Given the description of an element on the screen output the (x, y) to click on. 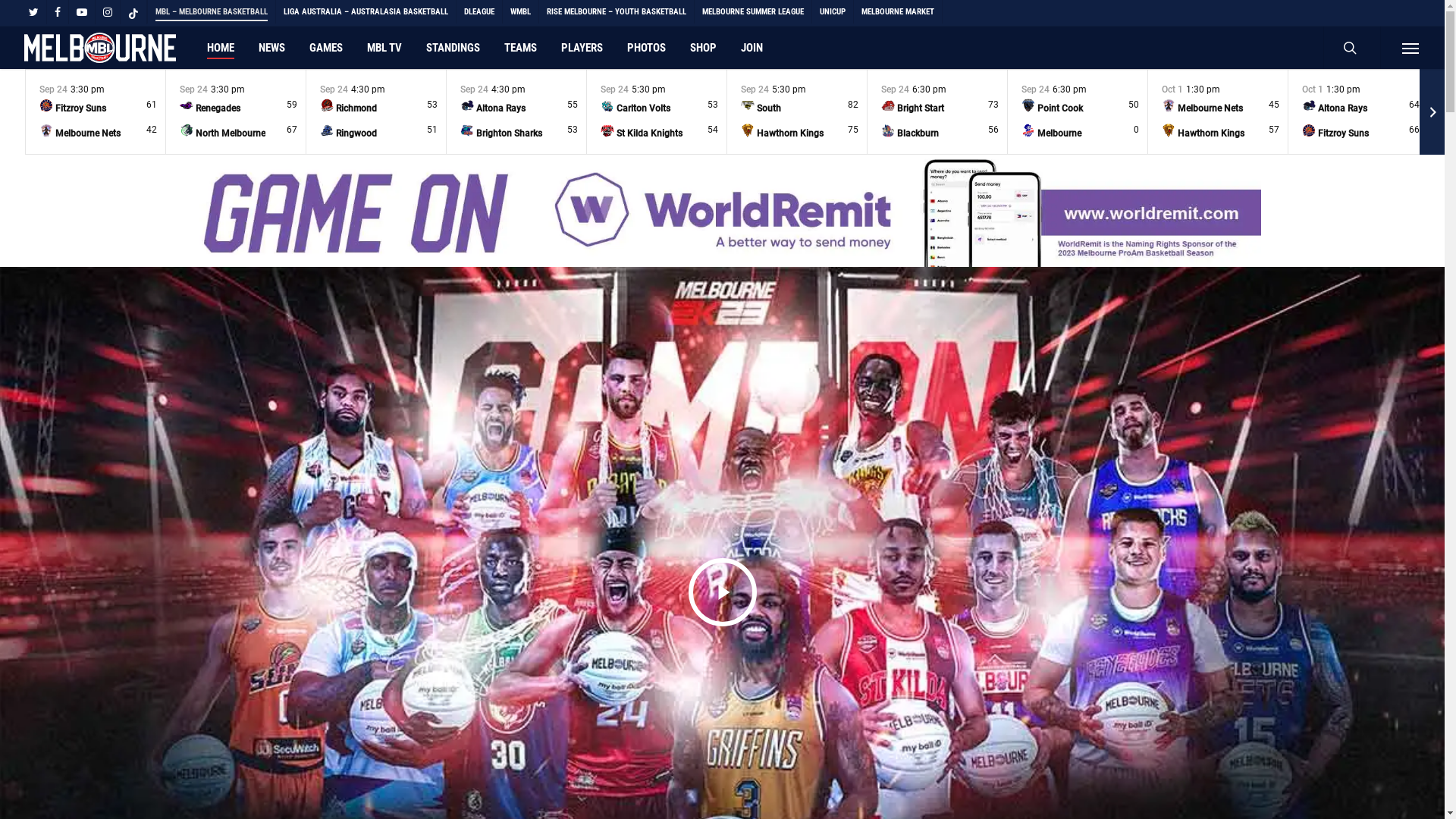
DLEAGUE Element type: text (478, 11)
JOIN Element type: text (751, 47)
Sep 24 3:30 pm
Renegades
59
North Melbourne Stags
67 Element type: text (235, 111)
Sep 24 5:30 pm
South Melbourne Pirates
82
Hawthorn Kings
75 Element type: text (796, 111)
MELBOURNE MARKET Element type: text (897, 11)
UNICUP Element type: text (832, 11)
NEWS Element type: text (271, 47)
MELBOURNE SUMMER LEAGUE Element type: text (752, 11)
Oct 1 1:30 pm
Melbourne Nets
45
Hawthorn Kings
57 Element type: text (1217, 111)
WMBL Element type: text (520, 11)
Sep 24 4:30 pm
Altona Rays
55
Brighton Sharks
53 Element type: text (516, 111)
TEAMS Element type: text (520, 47)
Oct 1 1:30 pm
Altona Rays
64
Fitzroy Suns
66 Element type: text (1357, 111)
MBL TV Element type: text (384, 47)
FACEBOOK Element type: text (57, 12)
HOME Element type: text (220, 47)
Sep 24 5:30 pm
Carlton Volts
53
St Kilda Knights
54 Element type: text (656, 111)
Sep 24 3:30 pm
Fitzroy Suns
61
Melbourne Nets
42 Element type: text (95, 111)
STANDINGS Element type: text (453, 47)
Menu Element type: text (1410, 47)
PLAYERS Element type: text (581, 47)
INSTAGRAM Element type: text (106, 12)
Play Video Element type: text (722, 592)
TIKTOK Element type: text (132, 12)
SHOP Element type: text (703, 47)
Sep 24 4:30 pm
Richmond Dragons
53
Ringwood Razorbacks
51 Element type: text (375, 111)
Sep 24 6:30 pm
Point Cook Panthers
50
Melbourne Capitals
0 Element type: text (1077, 111)
YOUTUBE Element type: text (81, 12)
TWITTER Element type: text (33, 12)
search Element type: text (1351, 47)
PHOTOS Element type: text (646, 47)
GAMES Element type: text (325, 47)
